Given the description of an element on the screen output the (x, y) to click on. 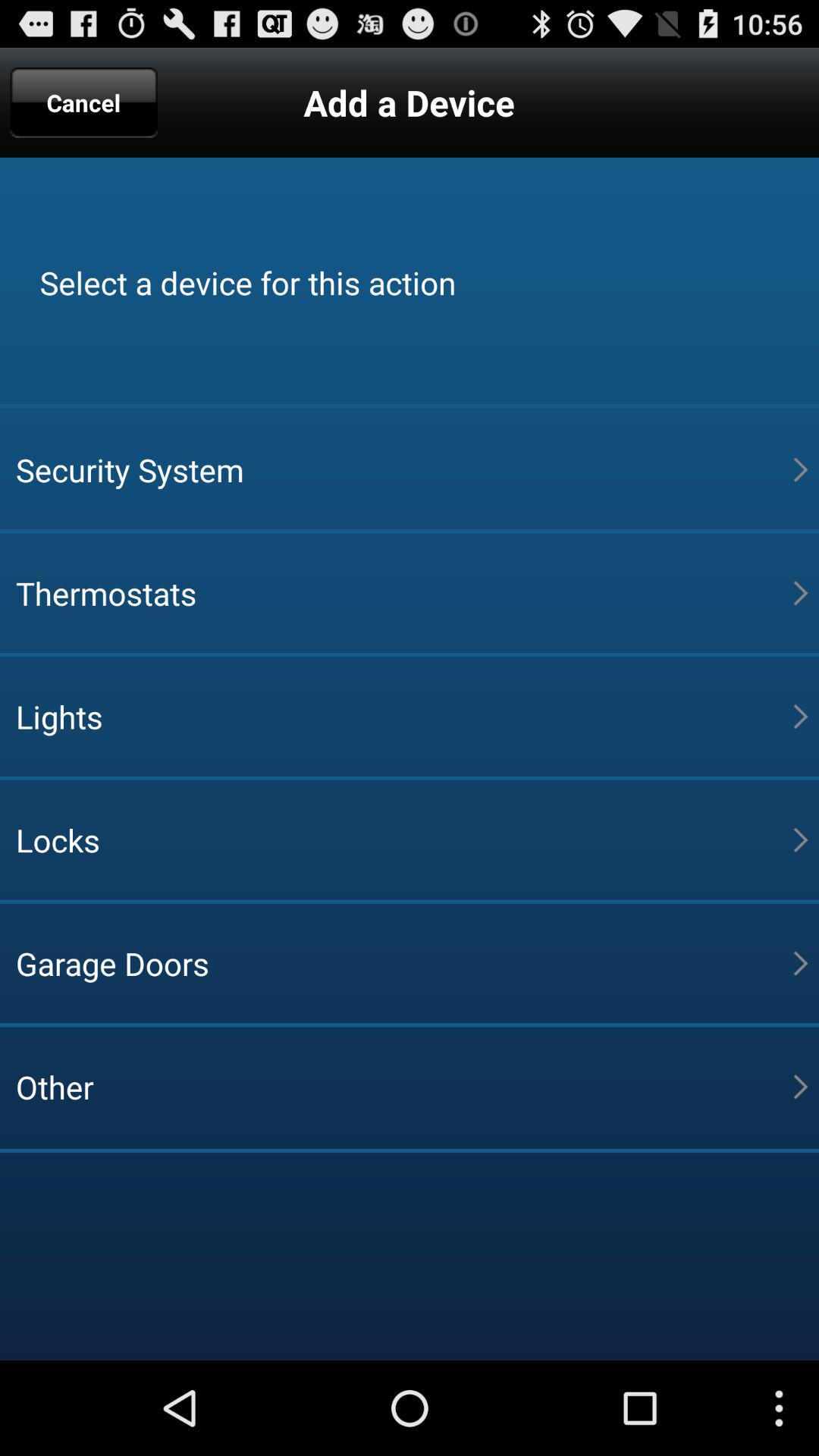
turn on locks icon (403, 839)
